Given the description of an element on the screen output the (x, y) to click on. 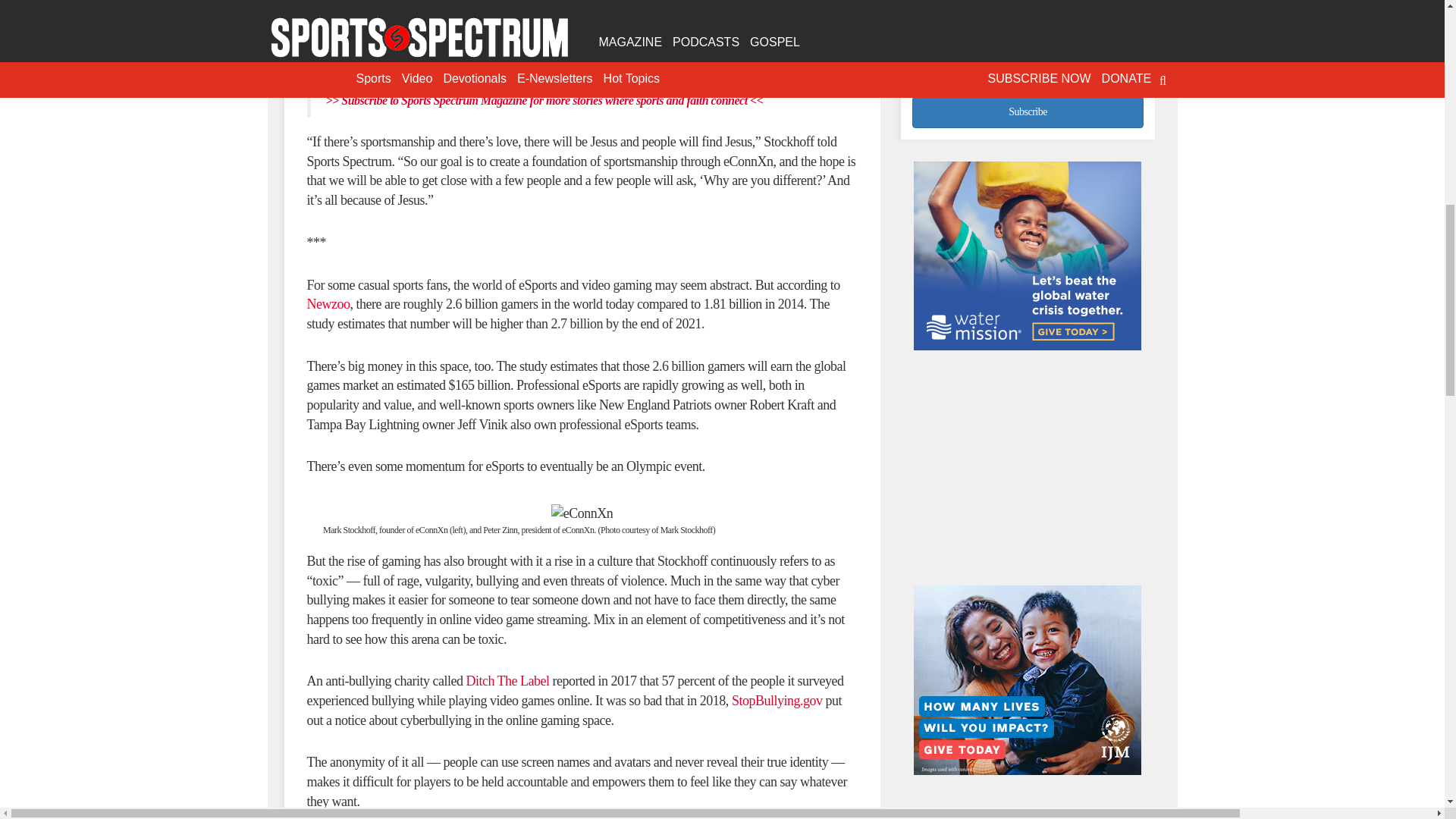
eConnXn (471, 11)
StopBullying.gov (777, 700)
International Phone Number (1027, 58)
Ditch The Label (506, 680)
Newzoo (327, 304)
